Given the description of an element on the screen output the (x, y) to click on. 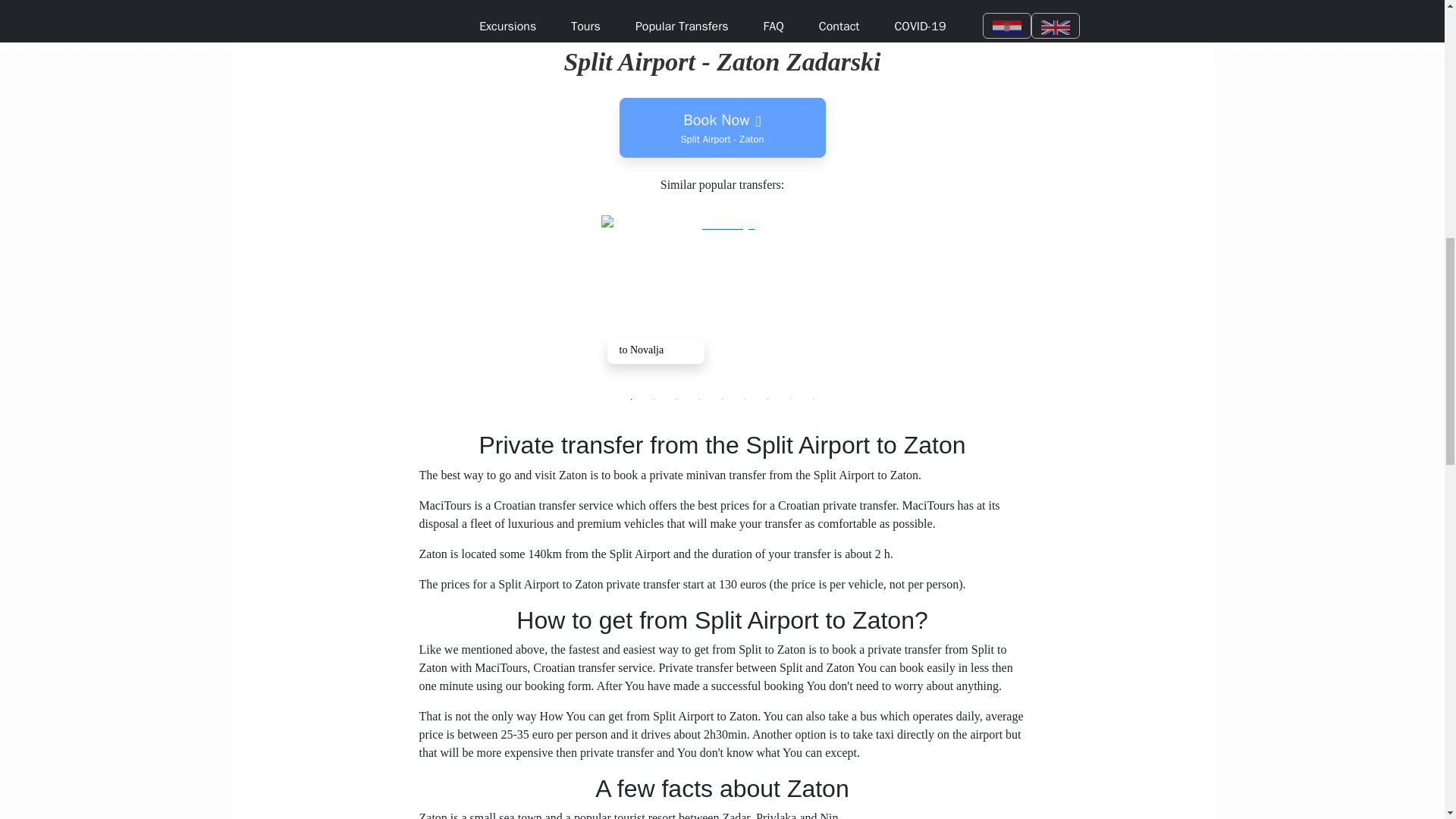
1 (631, 399)
8 (790, 399)
4 (698, 399)
9 (813, 399)
7 (767, 399)
3 (676, 399)
6 (744, 399)
2 (653, 399)
5 (721, 127)
